Given the description of an element on the screen output the (x, y) to click on. 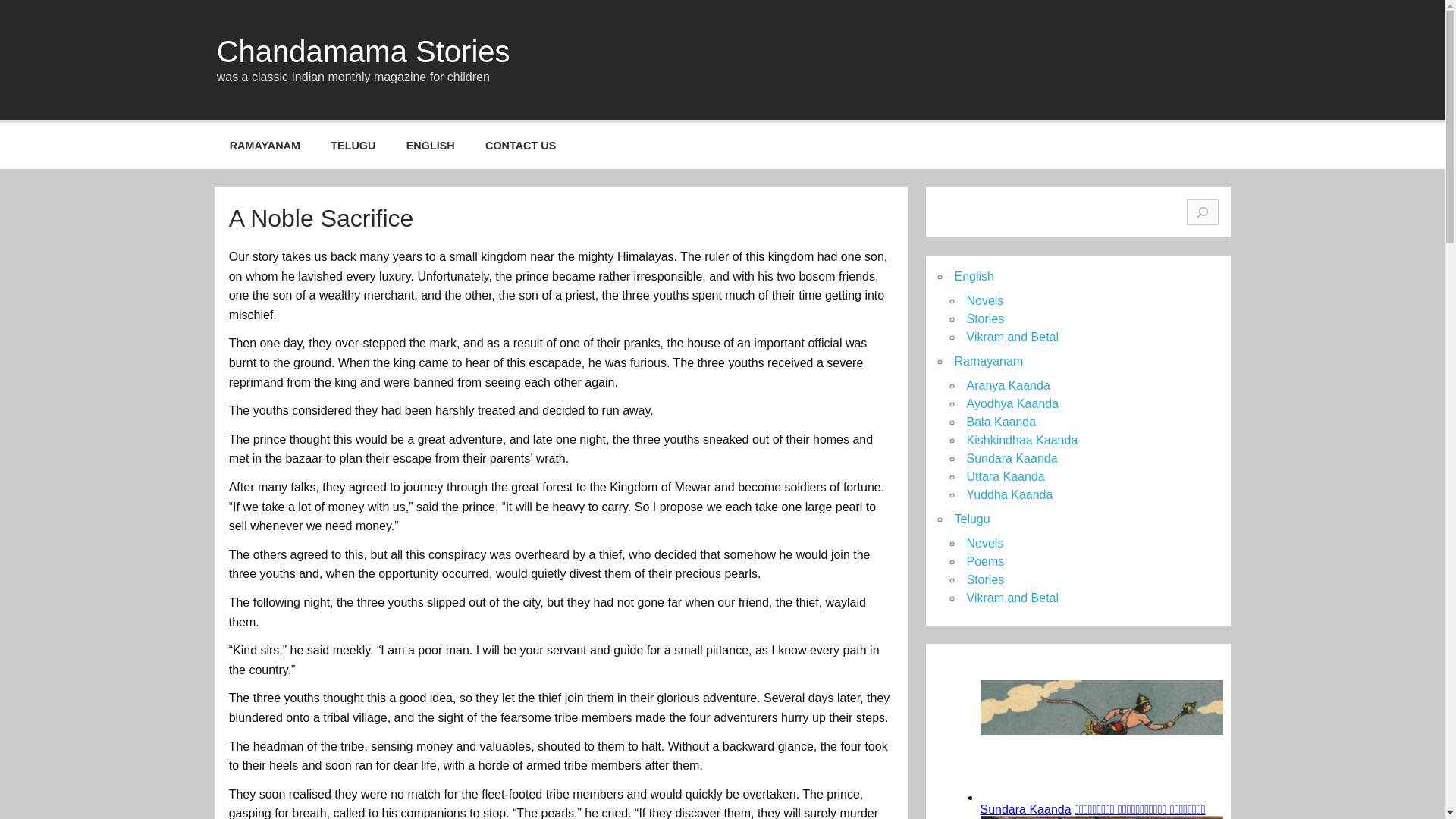
English (972, 276)
Bala Kaanda (1000, 421)
Stories (985, 318)
Sundara Kaanda (1011, 458)
Vikram and Betal (1012, 336)
Yuddha Kaanda (1009, 494)
Uttara Kaanda (1004, 476)
Ayodhya Kaanda (1012, 403)
Novels (984, 300)
TELUGU (352, 145)
